Given the description of an element on the screen output the (x, y) to click on. 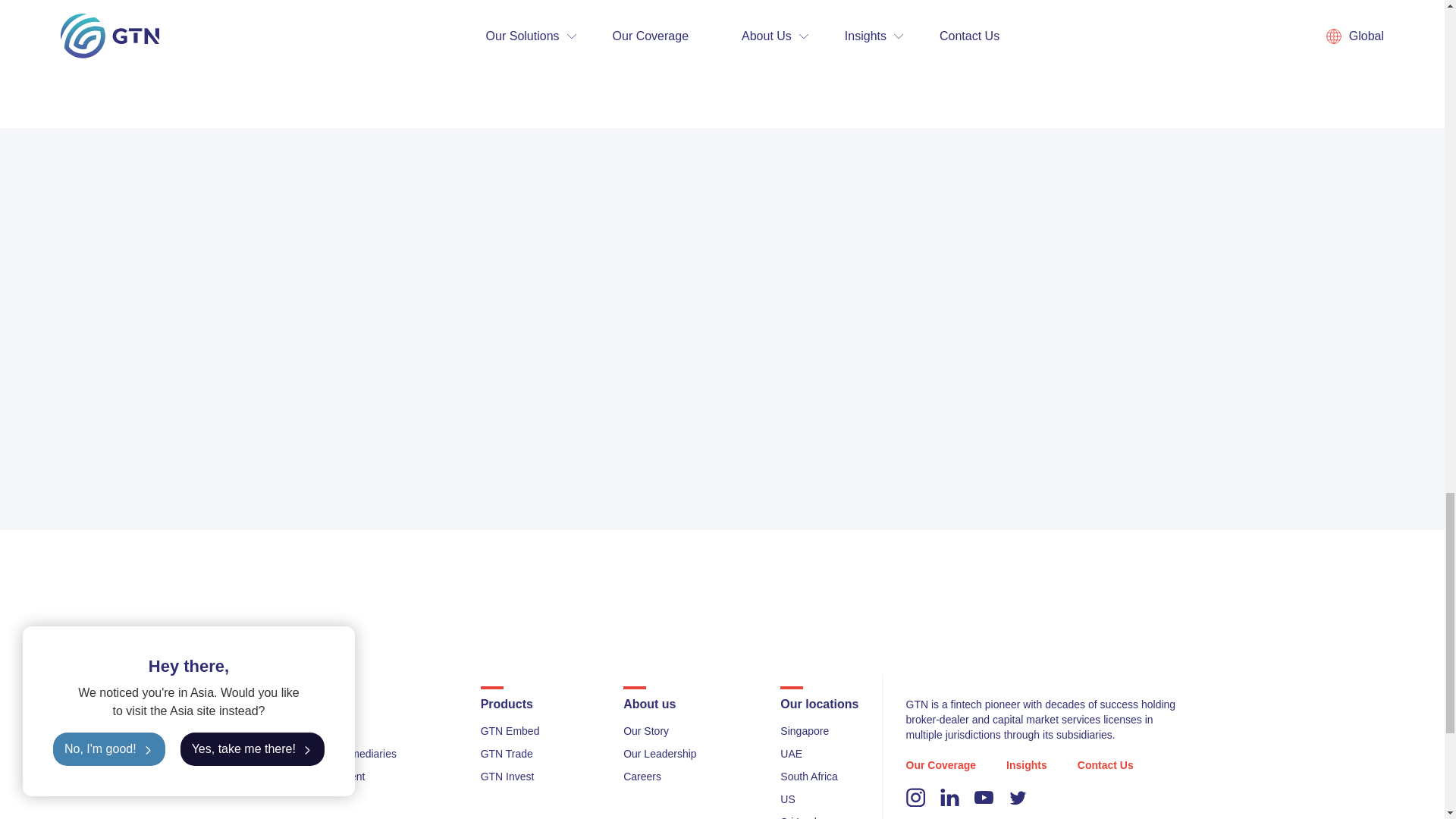
Fintech (283, 730)
